Given the description of an element on the screen output the (x, y) to click on. 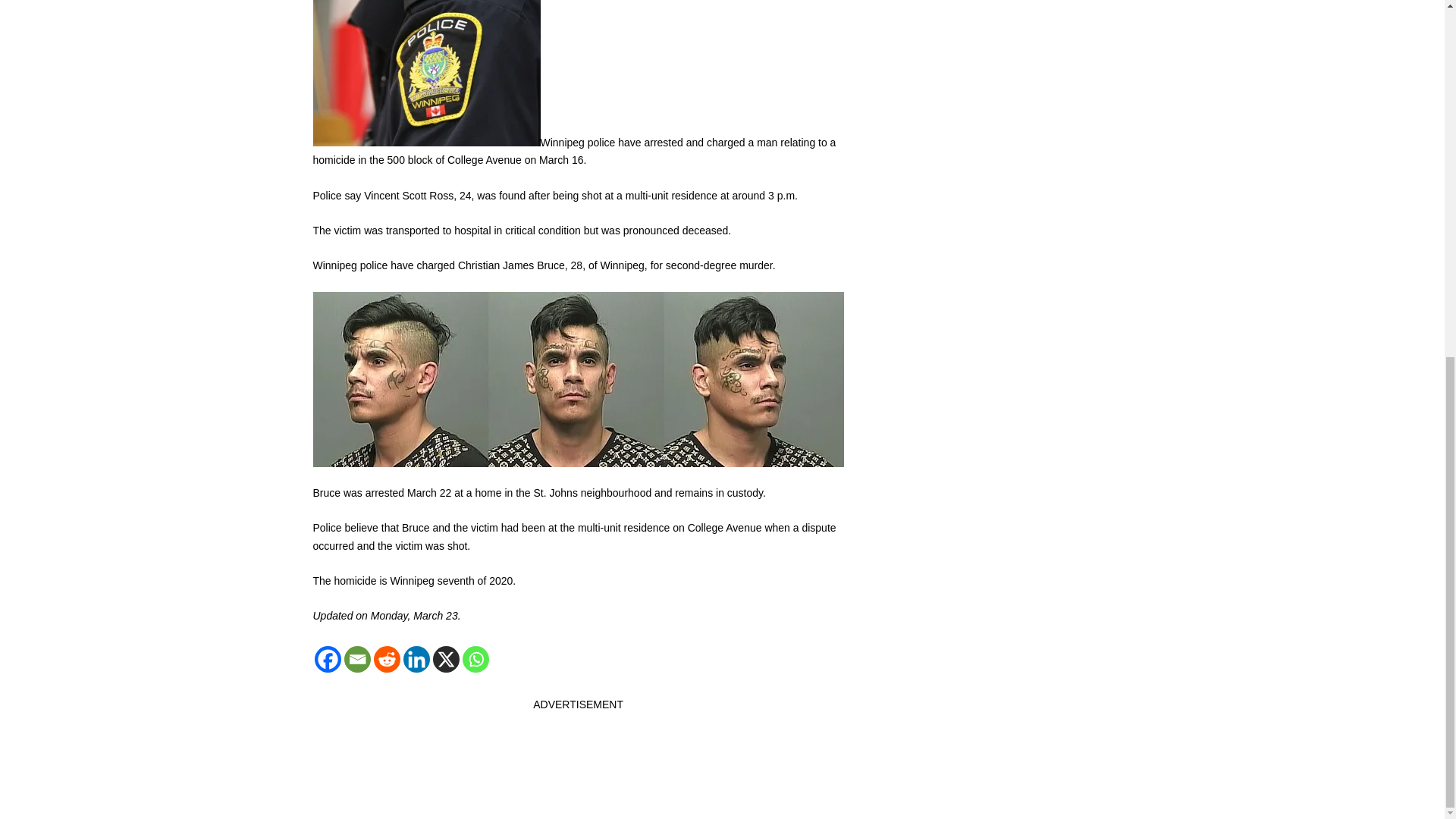
Linkedin (416, 659)
Reddit (385, 659)
Email (357, 659)
X (445, 659)
Whatsapp (476, 659)
Facebook (327, 659)
